Given the description of an element on the screen output the (x, y) to click on. 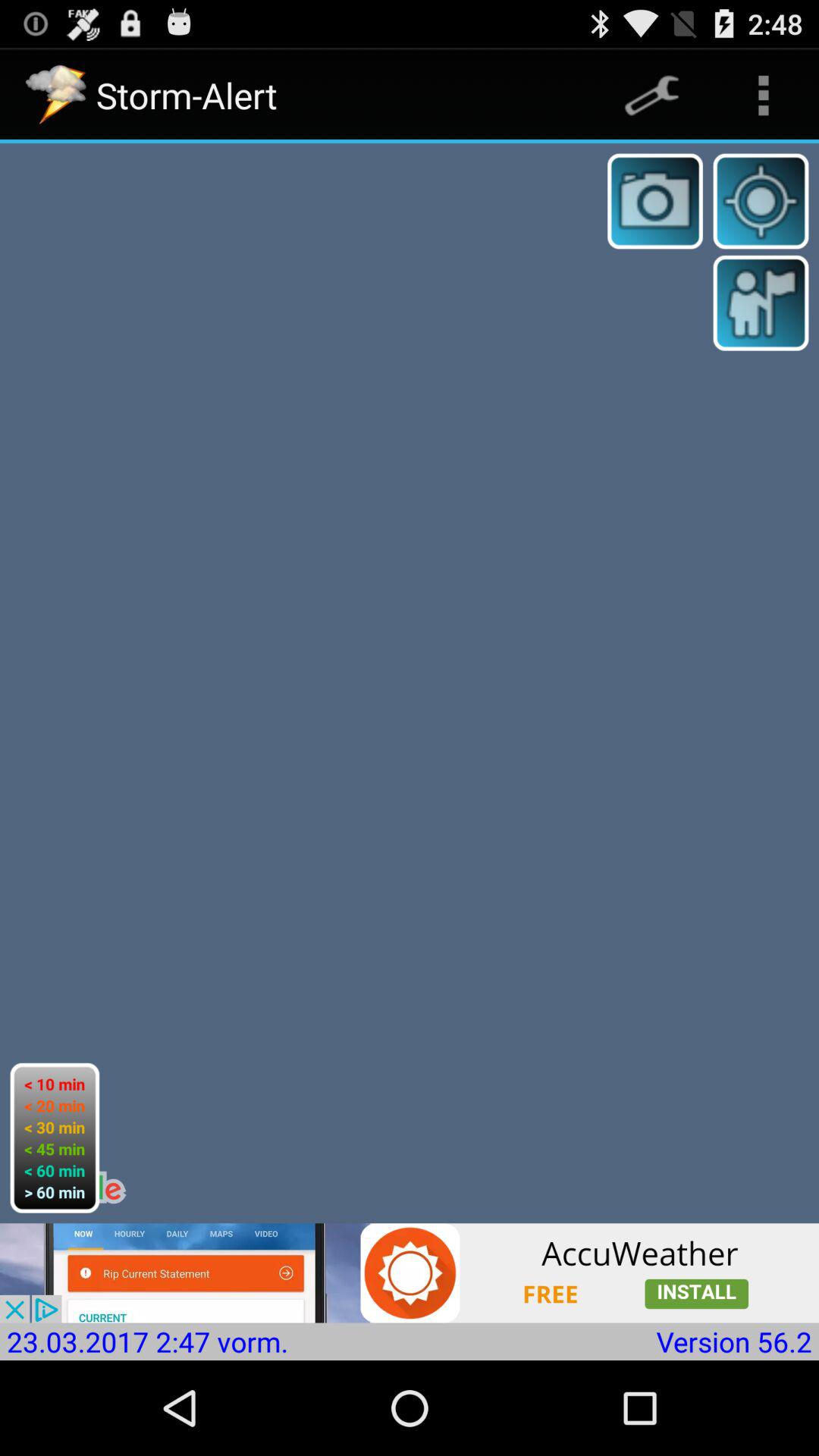
flag off (760, 302)
